Given the description of an element on the screen output the (x, y) to click on. 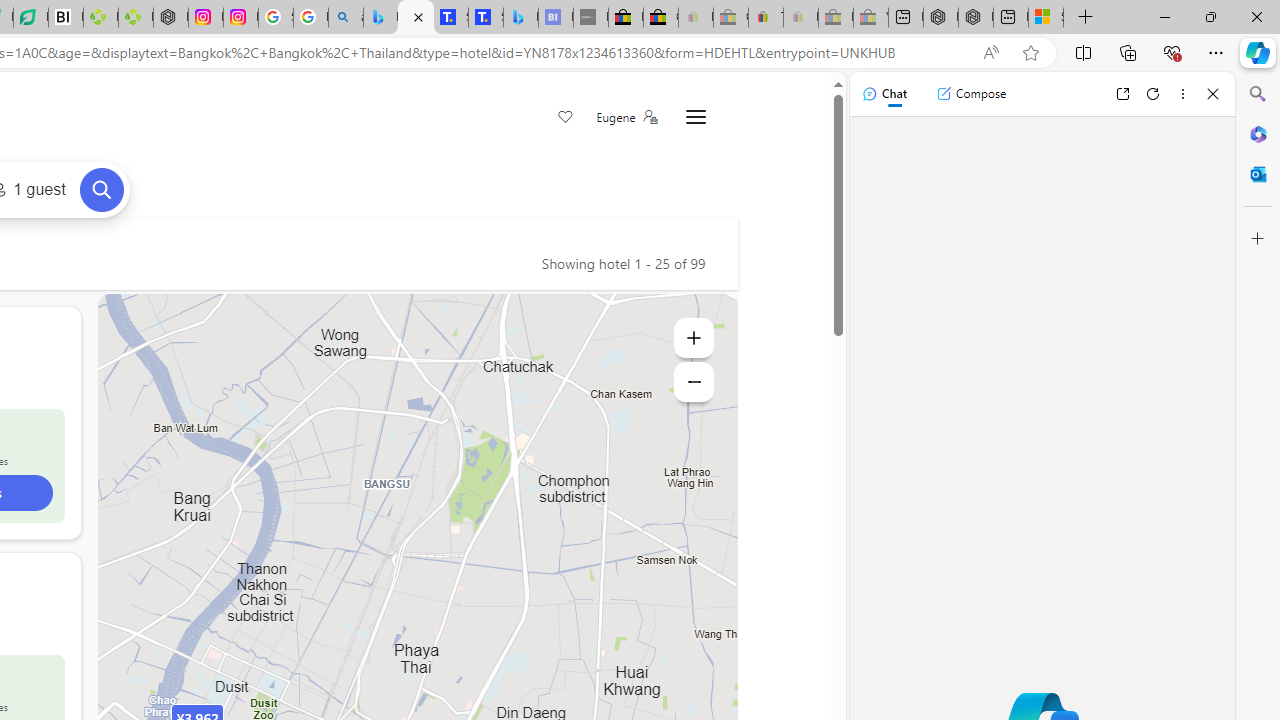
Descarga Driver Updater (136, 17)
Microsoft Bing Travel - Stays in Bangkok, Bangkok, Thailand (415, 17)
Chat (884, 93)
Nordace - Summer Adventures 2024 (975, 17)
Press Room - eBay Inc. - Sleeping (835, 17)
Payments Terms of Use | eBay.com - Sleeping (800, 17)
